Given the description of an element on the screen output the (x, y) to click on. 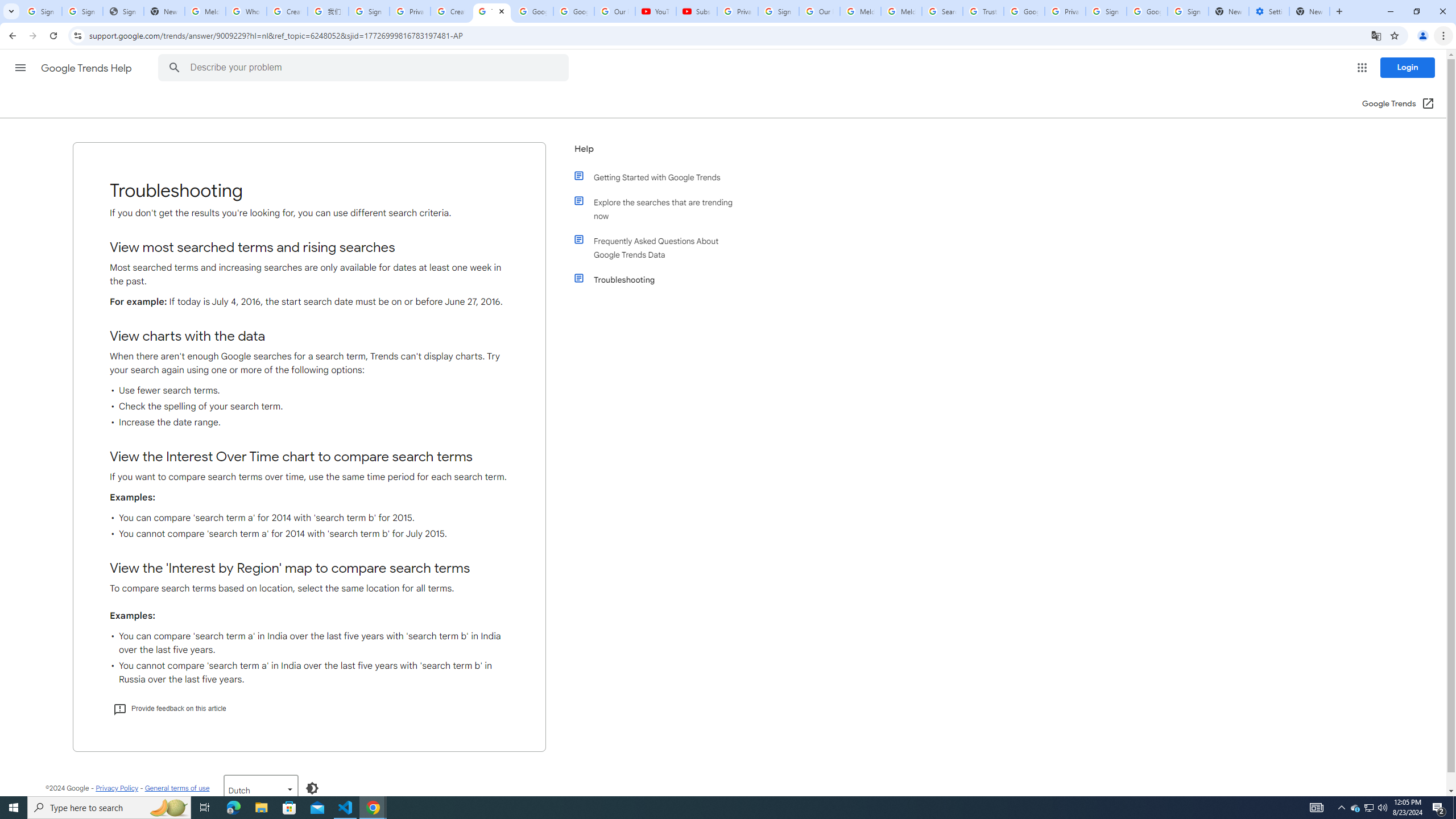
Who is my administrator? - Google Account Help (246, 11)
Troubleshooting - Google Trends Help (490, 11)
YouTube (655, 11)
Subscriptions - YouTube (696, 11)
Create your Google Account (450, 11)
Describe your problem (364, 67)
Frequently Asked Questions About Google Trends Data (661, 247)
Search our Doodle Library Collection - Google Doodles (942, 11)
General terms of use (176, 787)
Translate this page (1376, 35)
